Given the description of an element on the screen output the (x, y) to click on. 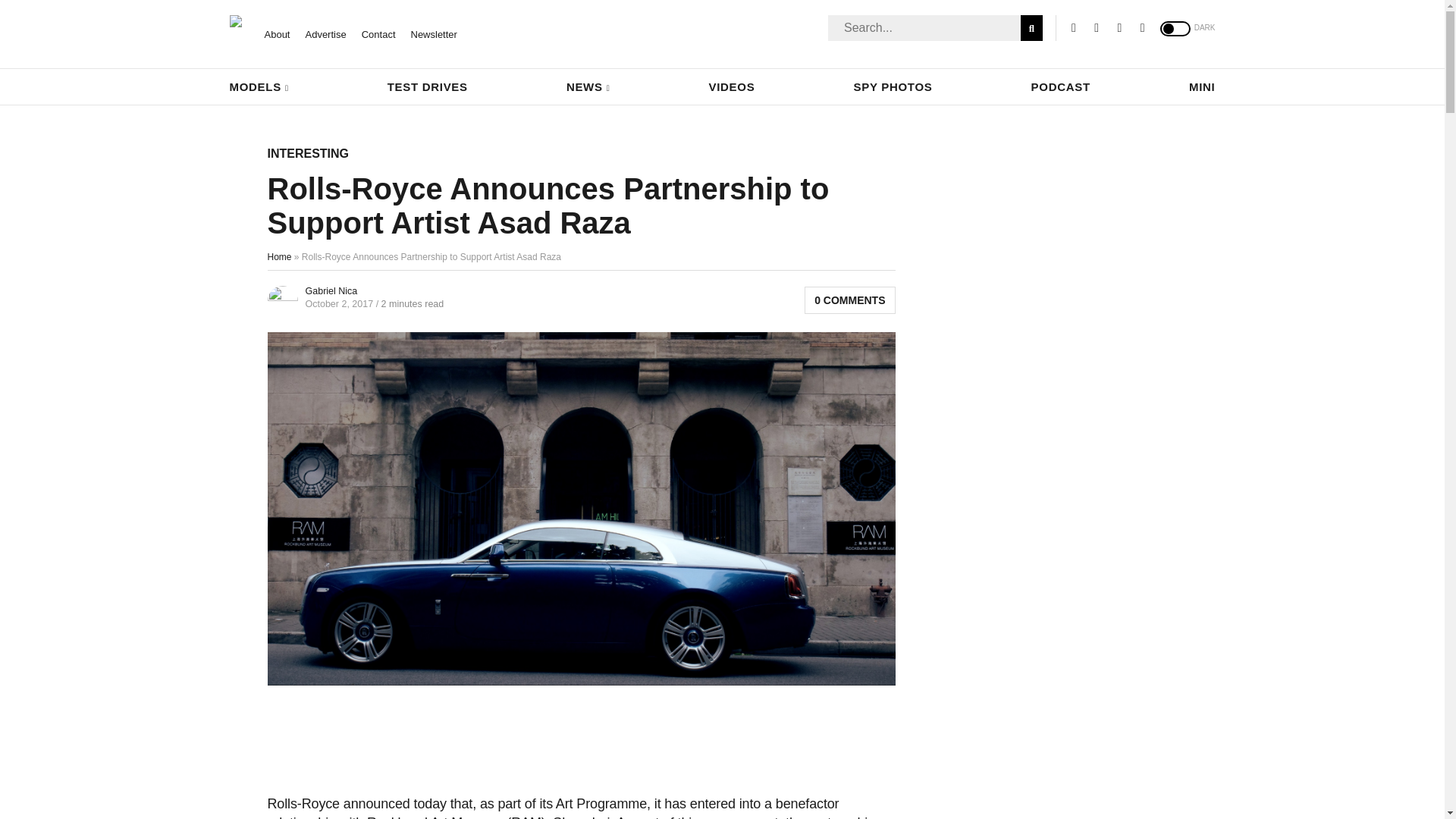
Contact (378, 34)
Advertise (325, 34)
MODELS (258, 86)
Newsletter (433, 34)
Gabriel Nica (330, 290)
About (276, 34)
BMW BLOG (234, 21)
